Given the description of an element on the screen output the (x, y) to click on. 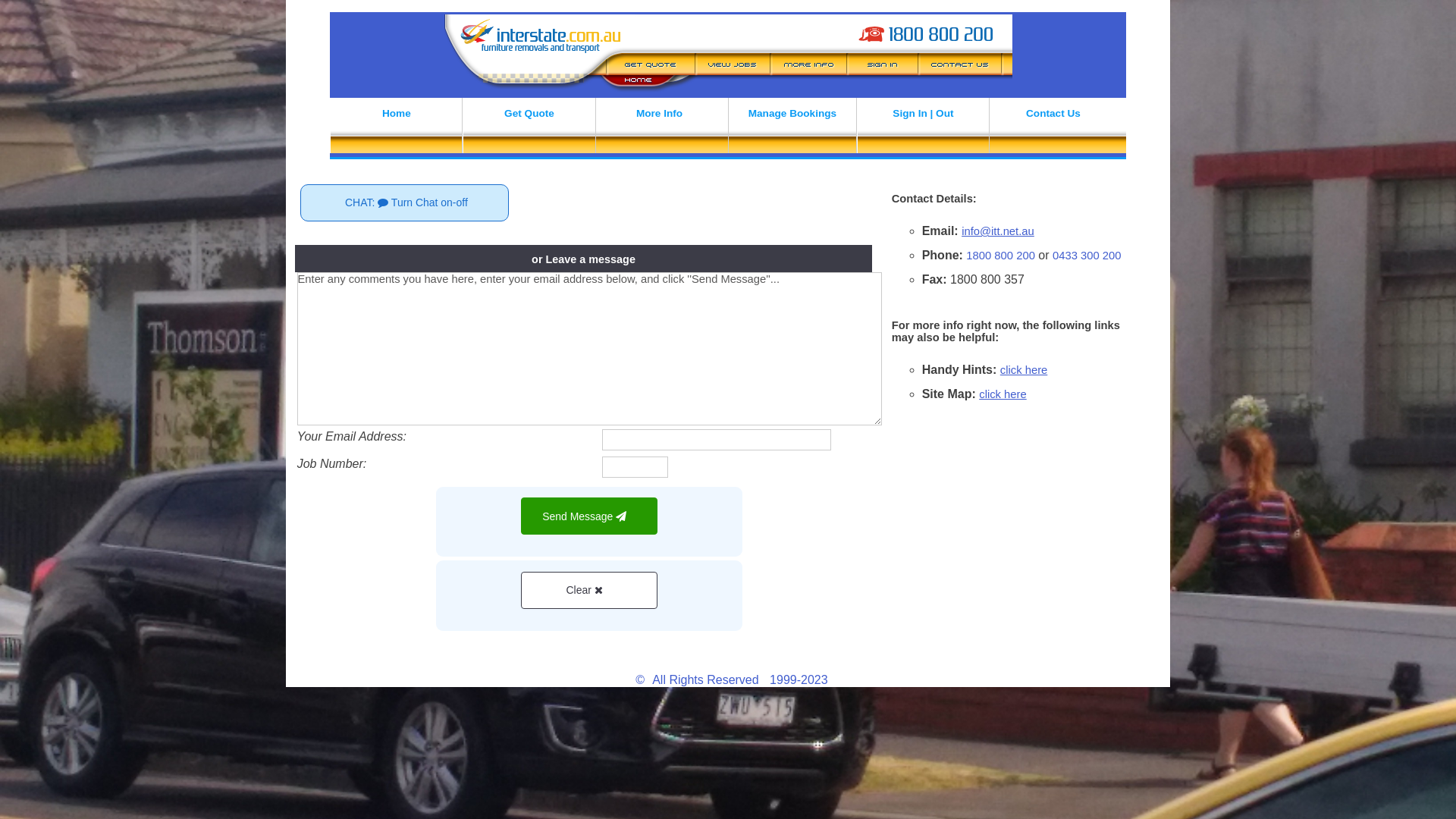
Contact Us Element type: text (1054, 654)
1800 800 200 Element type: text (1000, 255)
Sign In | Out Element type: text (915, 654)
Get Quote Element type: text (528, 128)
Home Element type: text (395, 128)
click here Element type: text (1002, 394)
click here Element type: text (1024, 370)
Sign In | Out Element type: text (922, 128)
Manage Bookings Element type: text (792, 128)
info@itt.net.au Element type: text (997, 231)
More Info Element type: text (636, 654)
Get Quote Element type: text (497, 654)
Contact Us Element type: text (1053, 128)
Send Message Element type: text (588, 515)
Clear Element type: text (588, 589)
More Info Element type: text (659, 128)
Manage Bookings Element type: text (800, 654)
0433 300 200 Element type: text (1086, 255)
CHAT: Turn Chat on-off Element type: text (404, 202)
Home Element type: text (359, 654)
